Given the description of an element on the screen output the (x, y) to click on. 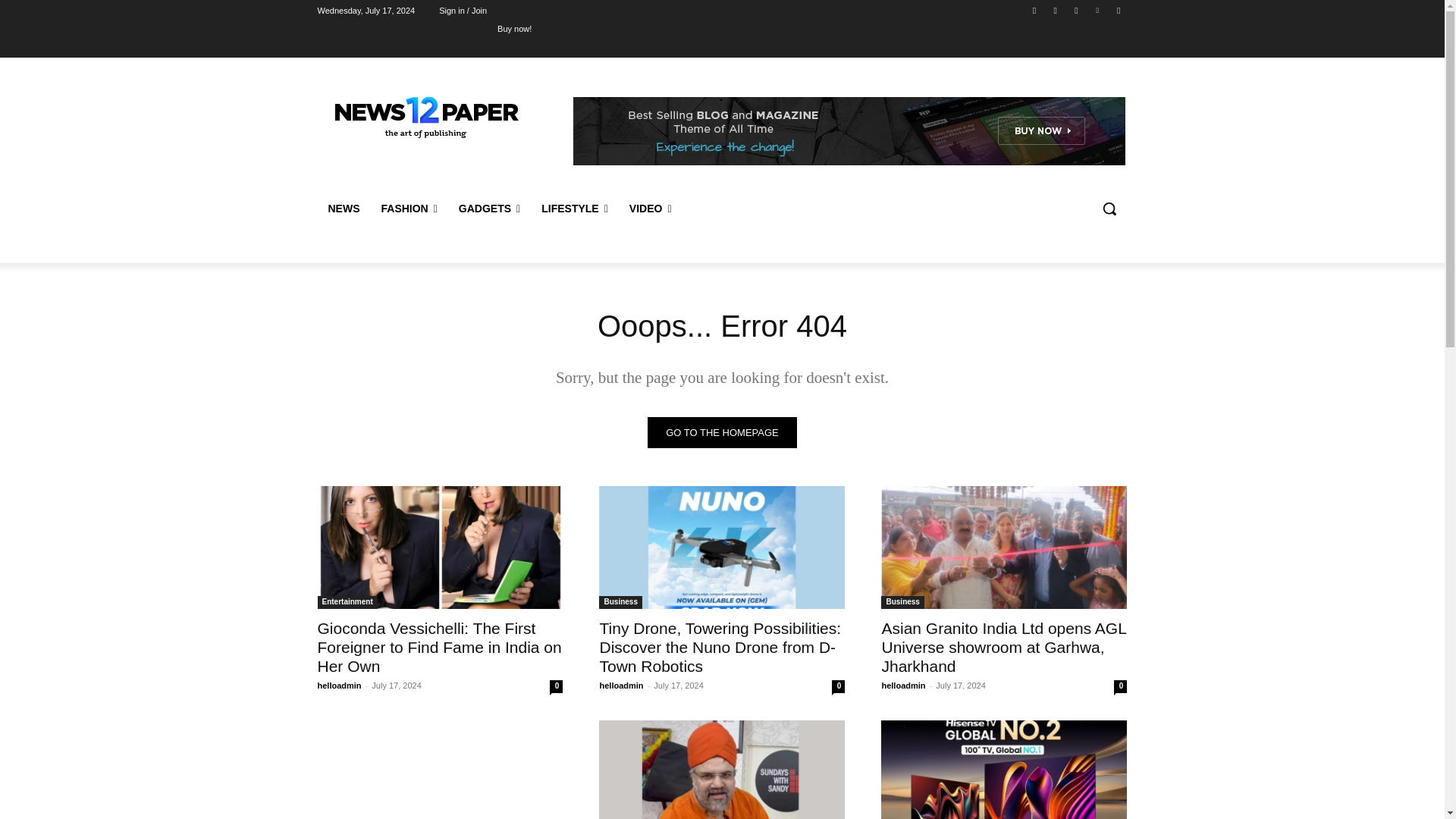
Twitter (1075, 9)
Instagram (1055, 9)
Youtube (1117, 9)
Buy now! (514, 28)
Facebook (1034, 9)
Vimeo (1097, 9)
FASHION (407, 208)
NEWS (343, 208)
